Given the description of an element on the screen output the (x, y) to click on. 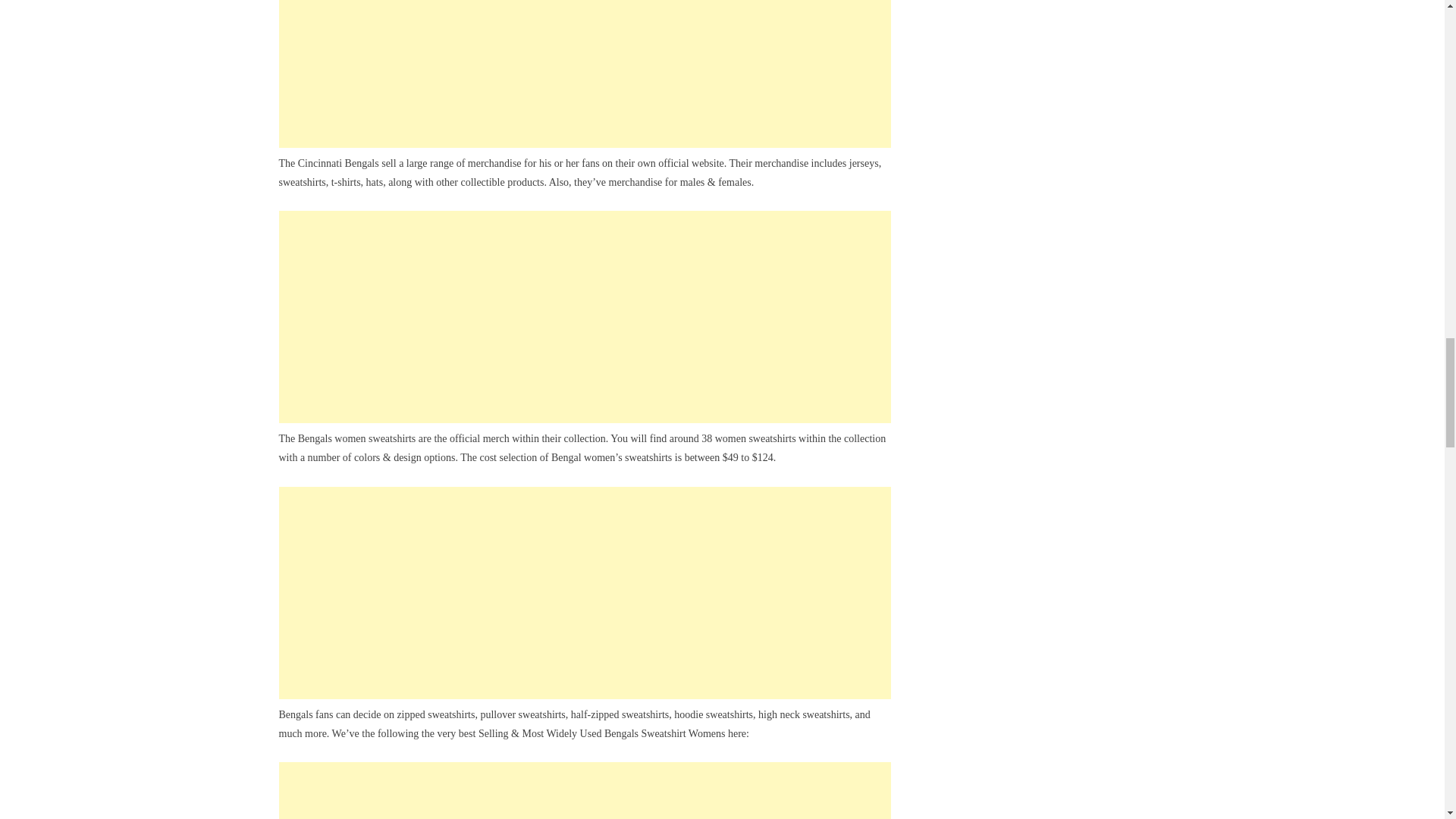
Advertisement (585, 592)
Advertisement (585, 316)
Advertisement (585, 74)
